Given the description of an element on the screen output the (x, y) to click on. 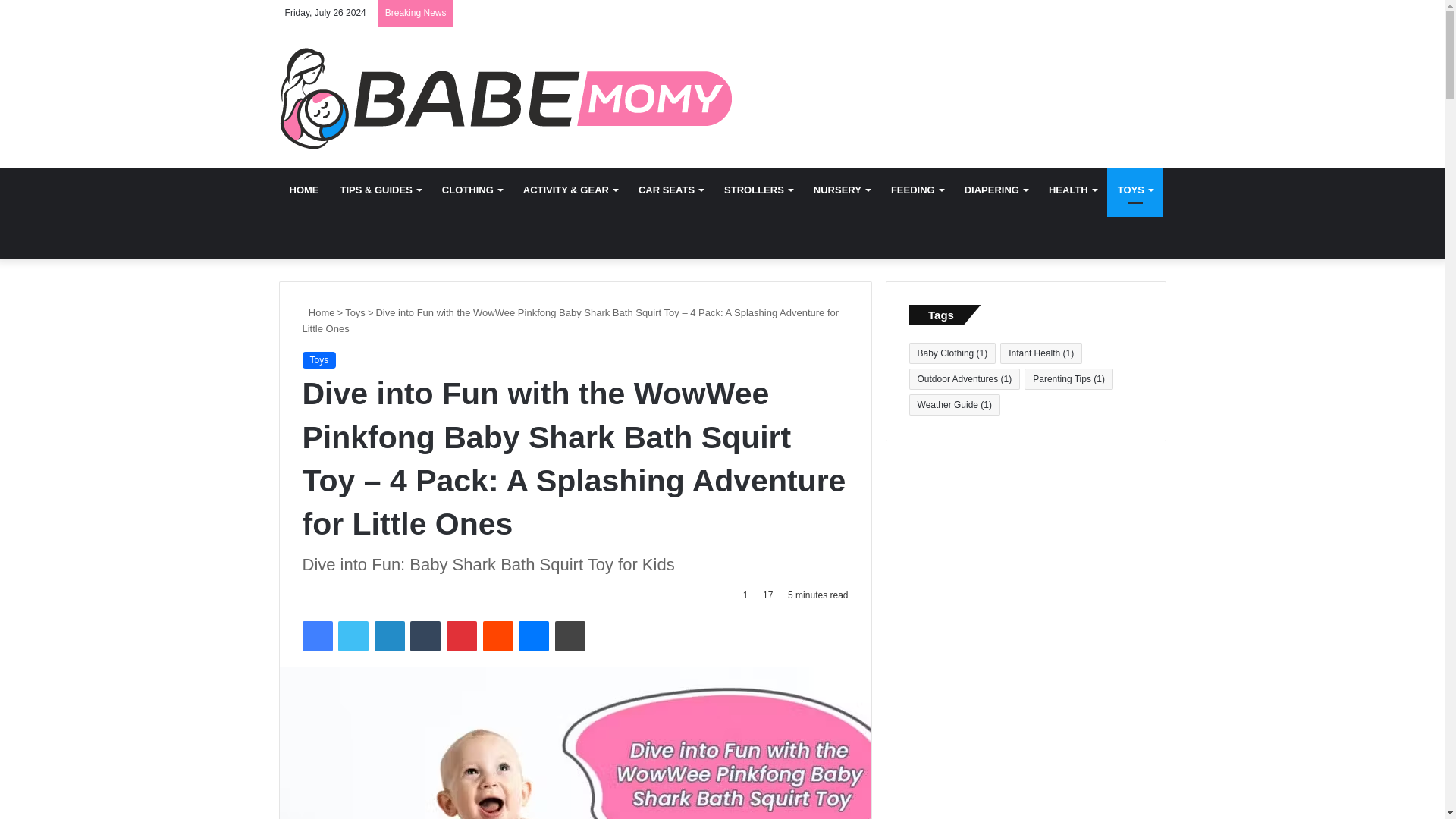
Babe Momy (506, 96)
Print (569, 635)
Tumblr (425, 635)
Reddit (498, 635)
Messenger (533, 635)
Pinterest (461, 635)
LinkedIn (389, 635)
CLOTHING (471, 189)
Facebook (316, 635)
HOME (304, 189)
Twitter (352, 635)
